Given the description of an element on the screen output the (x, y) to click on. 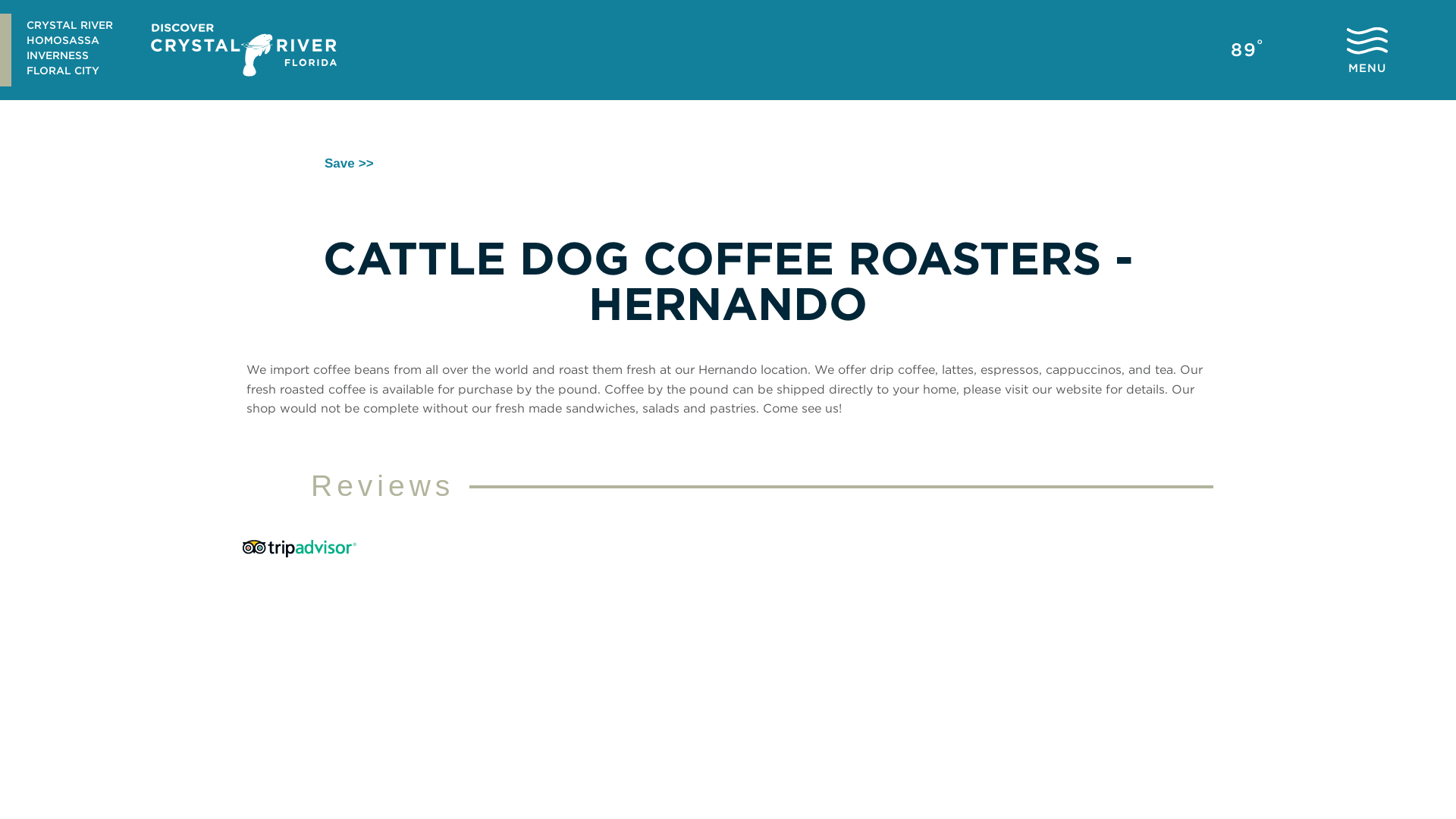
Save (334, 162)
CRYSTAL RIVER (69, 25)
INVERNESS (69, 55)
HOMOSASSA (69, 40)
FLORAL CITY (69, 70)
TripAdvisor (299, 548)
Live River Cam (1181, 49)
